Given the description of an element on the screen output the (x, y) to click on. 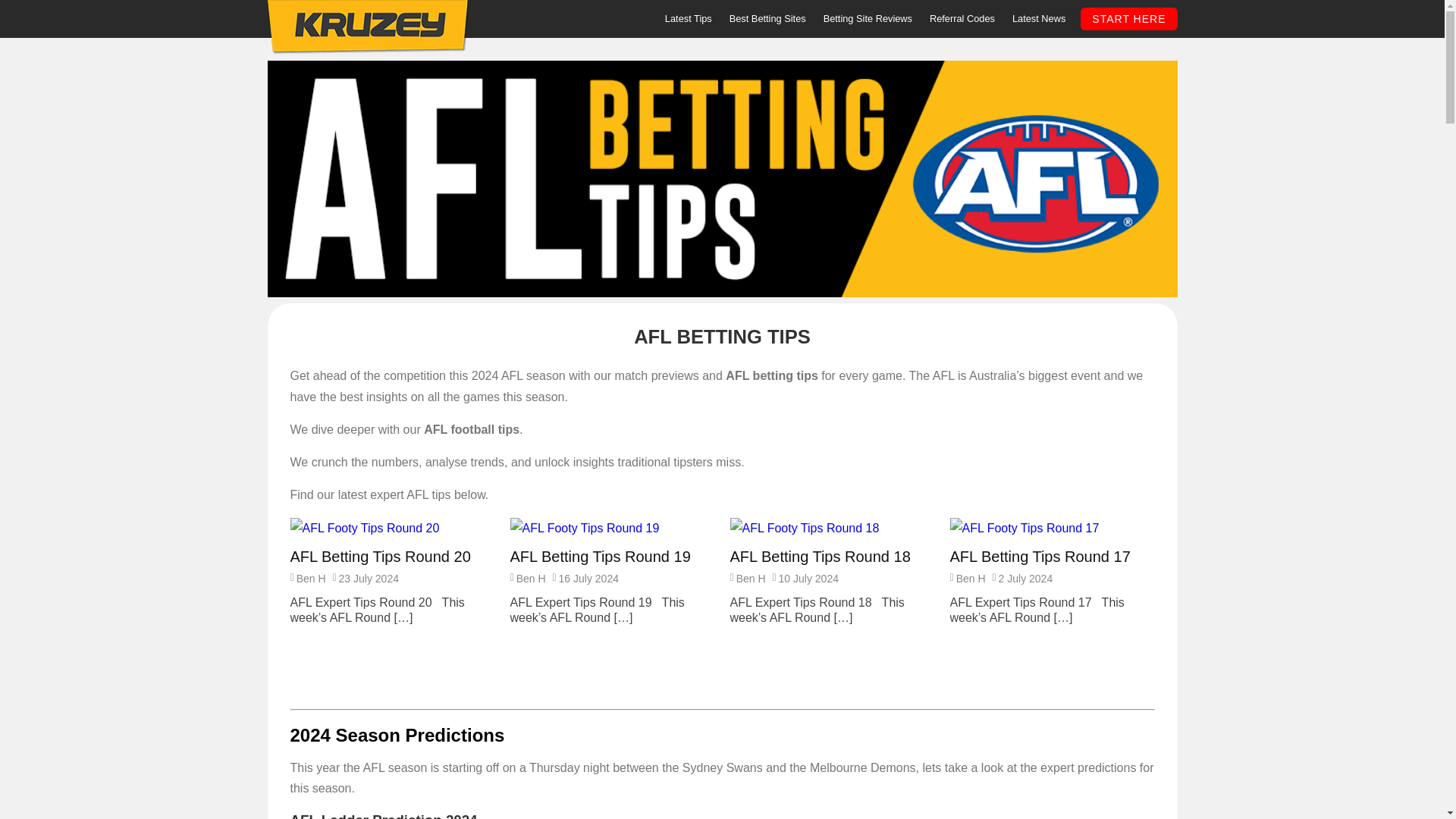
Back to Top (12, 9)
